Given the description of an element on the screen output the (x, y) to click on. 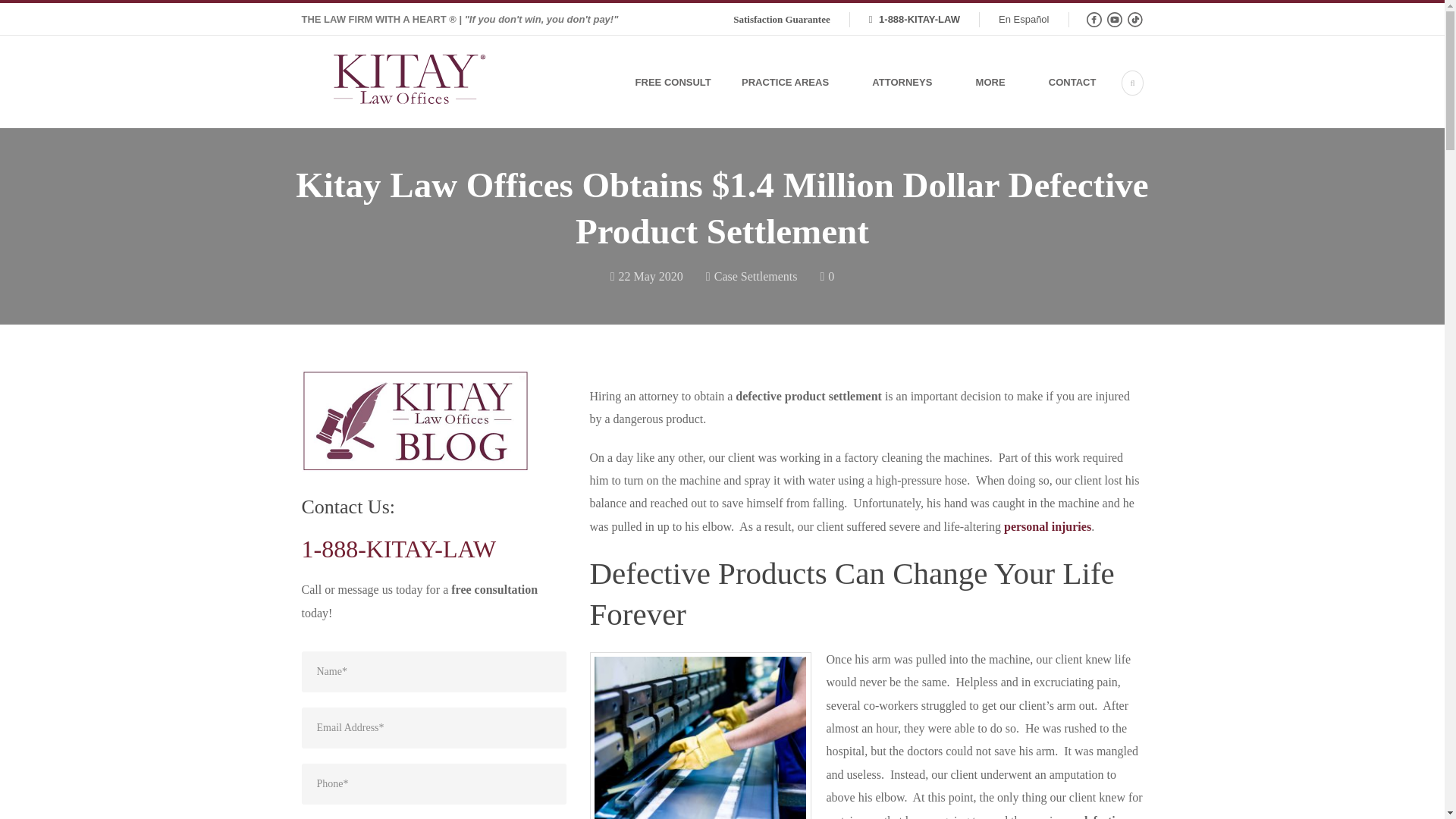
Law Firm in Pennsylvania (408, 82)
Satisfaction Guarantee (781, 19)
1-888-KITAY-LAW (914, 19)
